Given the description of an element on the screen output the (x, y) to click on. 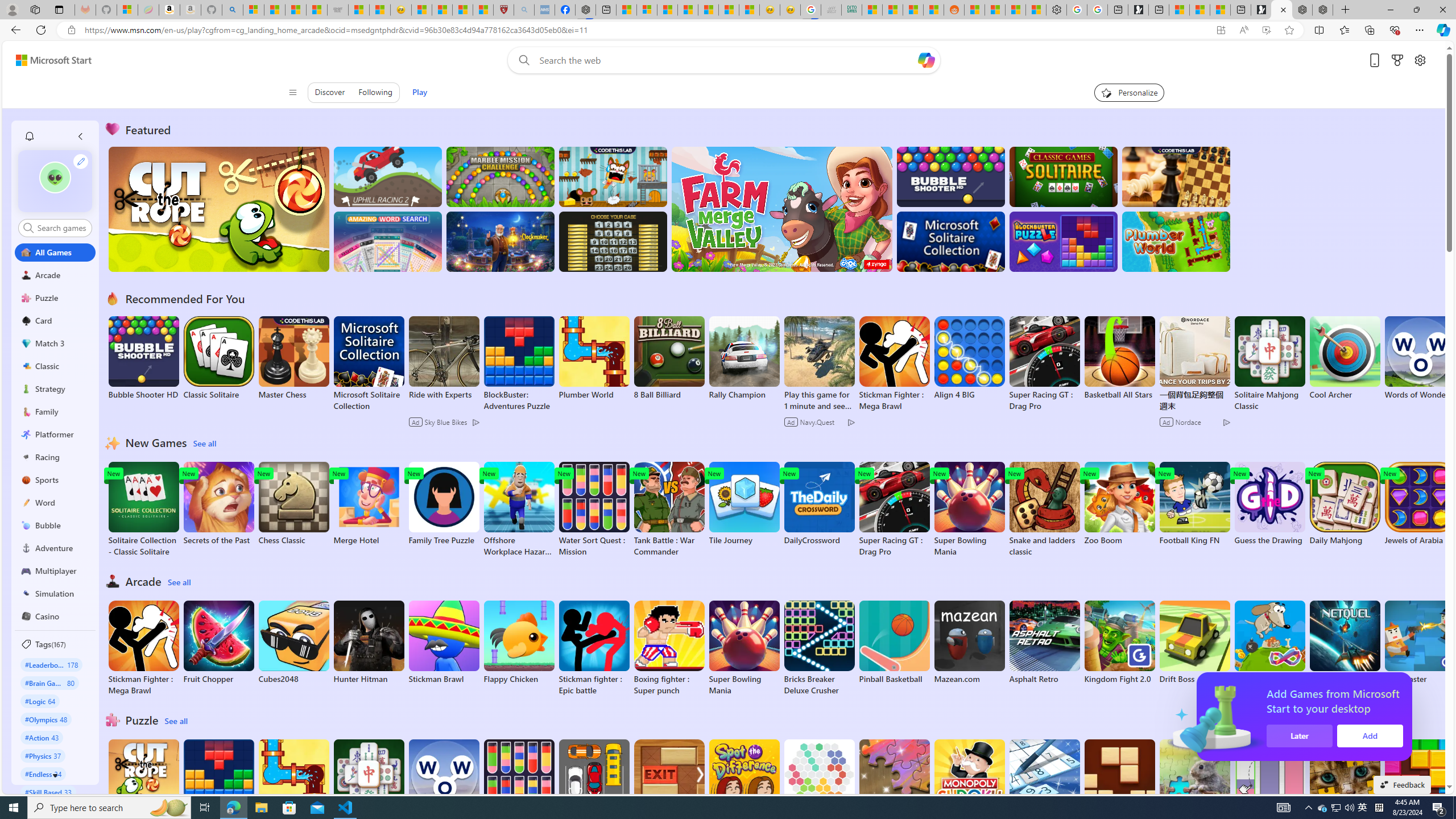
Science - MSN (461, 9)
Discover (329, 92)
Zoo Boom (1119, 503)
Address and search bar (647, 29)
netquel.com (1344, 642)
Align 4 BIG (968, 358)
Deal or No Deal (612, 241)
Ride with Experts (443, 394)
Flappy Chicken (518, 642)
